Given the description of an element on the screen output the (x, y) to click on. 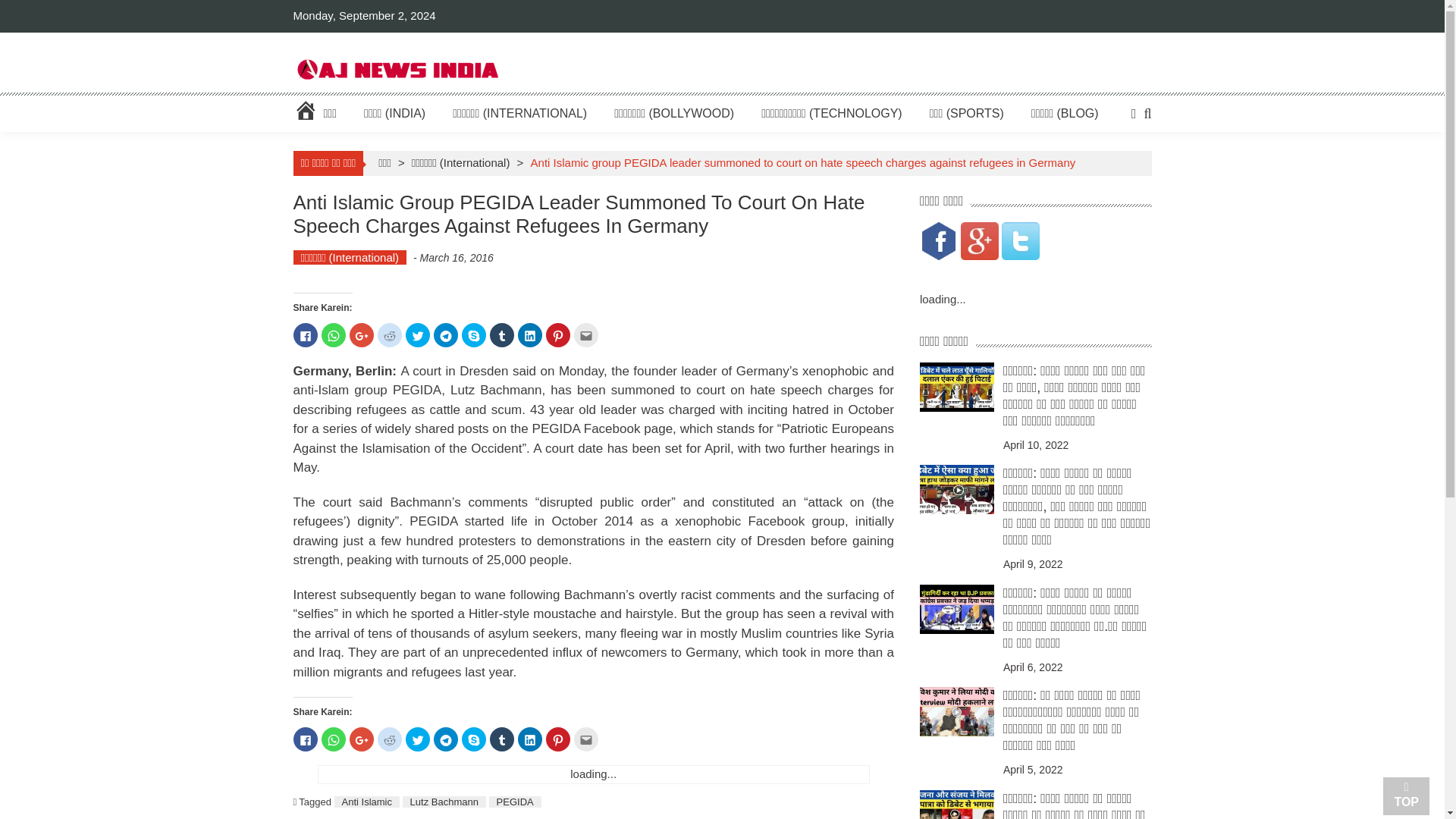
Click to share on Facebook (304, 739)
Click to share on Pinterest (558, 334)
Click to email this to a friend (584, 334)
Share on Skype (472, 334)
Click to share on LinkedIn (528, 334)
Click to share on Tumblr (501, 334)
Click to share on Twitter (416, 334)
Click to share on Reddit (389, 334)
Aaj News India (396, 67)
Click to share on WhatsApp (333, 334)
